Given the description of an element on the screen output the (x, y) to click on. 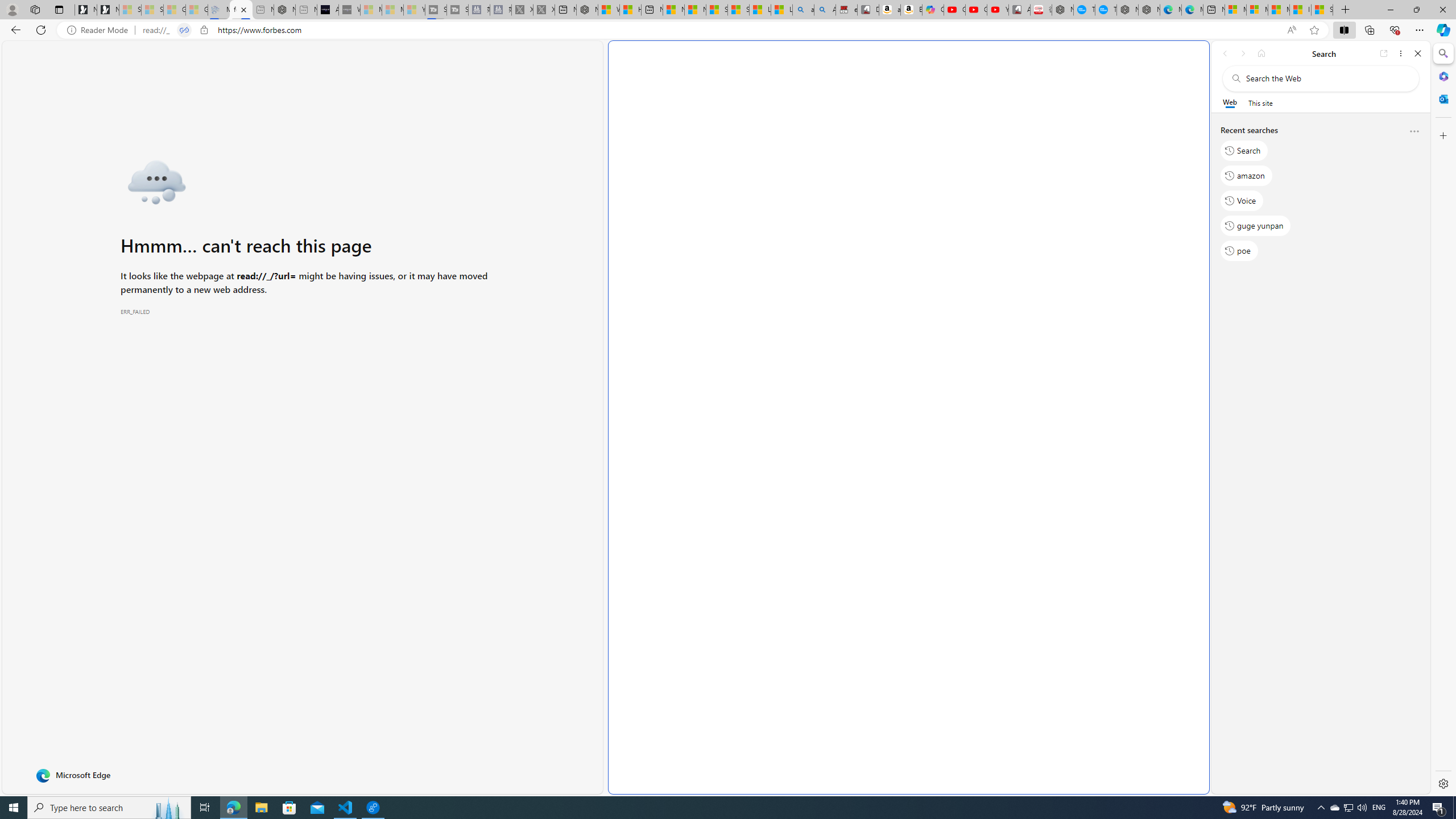
Reader Mode (100, 29)
Web scope (1230, 102)
Open link in new tab (1383, 53)
